Given the description of an element on the screen output the (x, y) to click on. 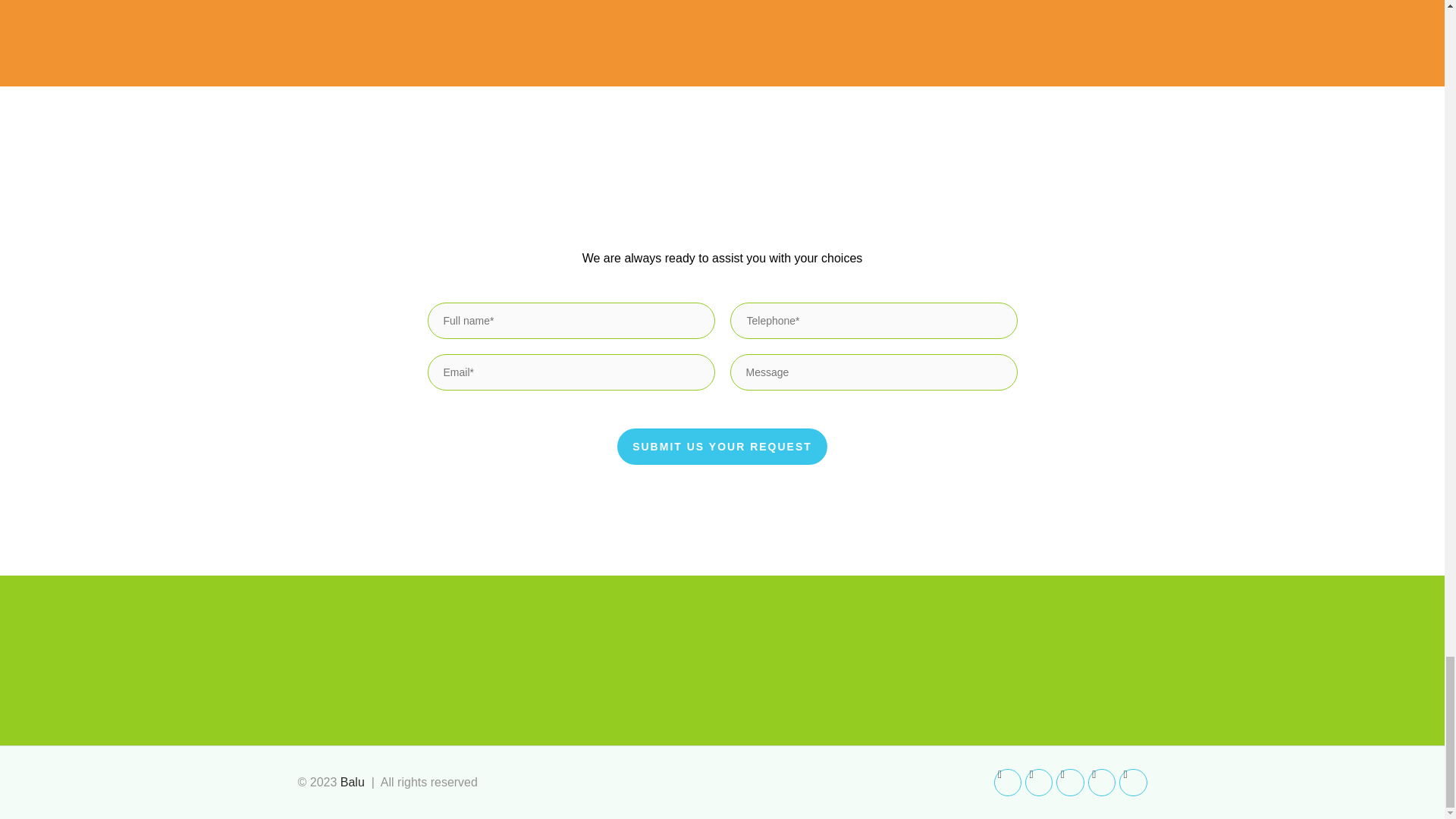
Submit us your request (722, 446)
Submit us your request (722, 446)
